Given the description of an element on the screen output the (x, y) to click on. 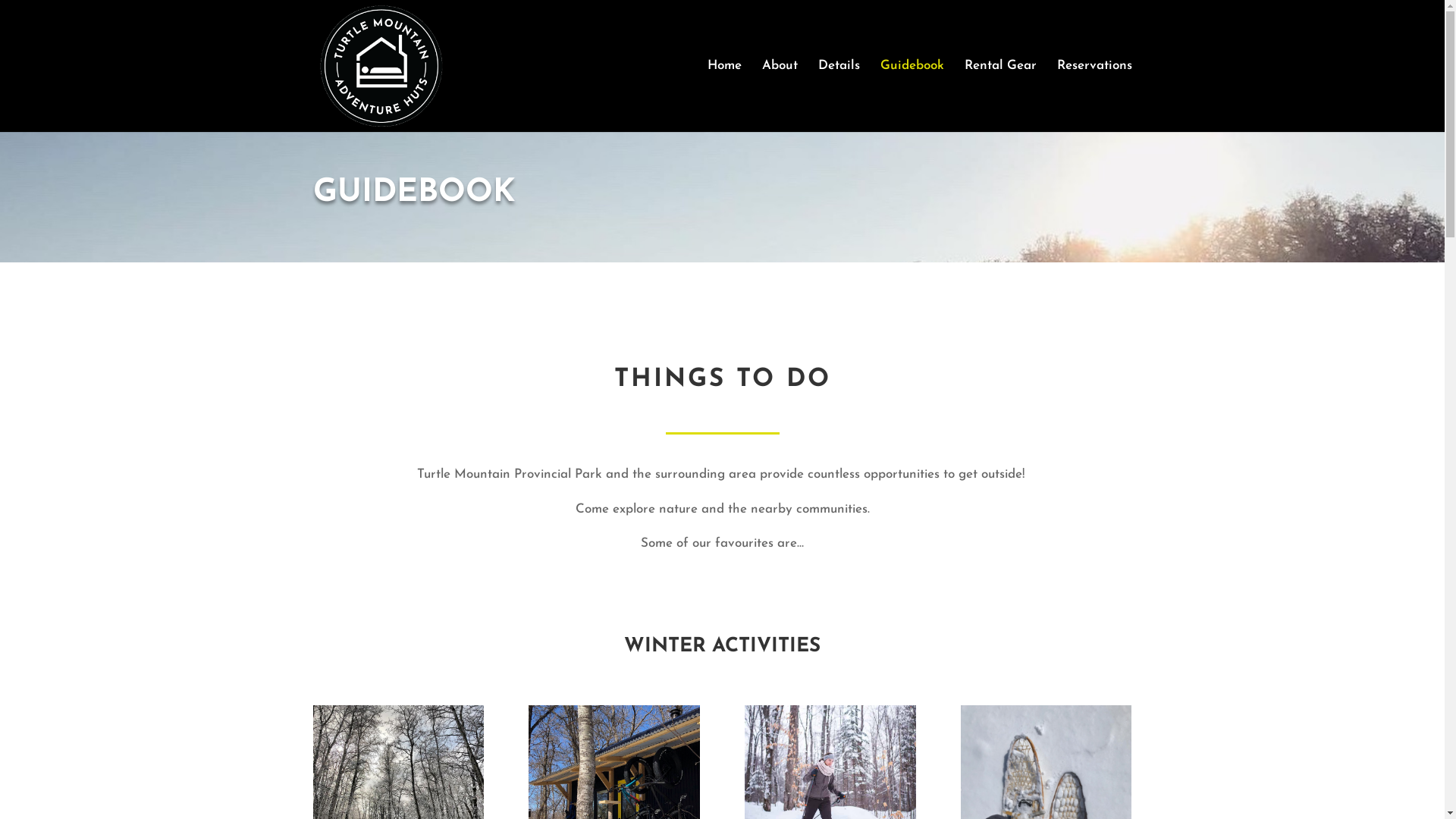
Reservations Element type: text (1094, 95)
Details Element type: text (838, 95)
Home Element type: text (723, 95)
Guidebook Element type: text (911, 95)
Rental Gear Element type: text (1000, 95)
About Element type: text (779, 95)
